Given the description of an element on the screen output the (x, y) to click on. 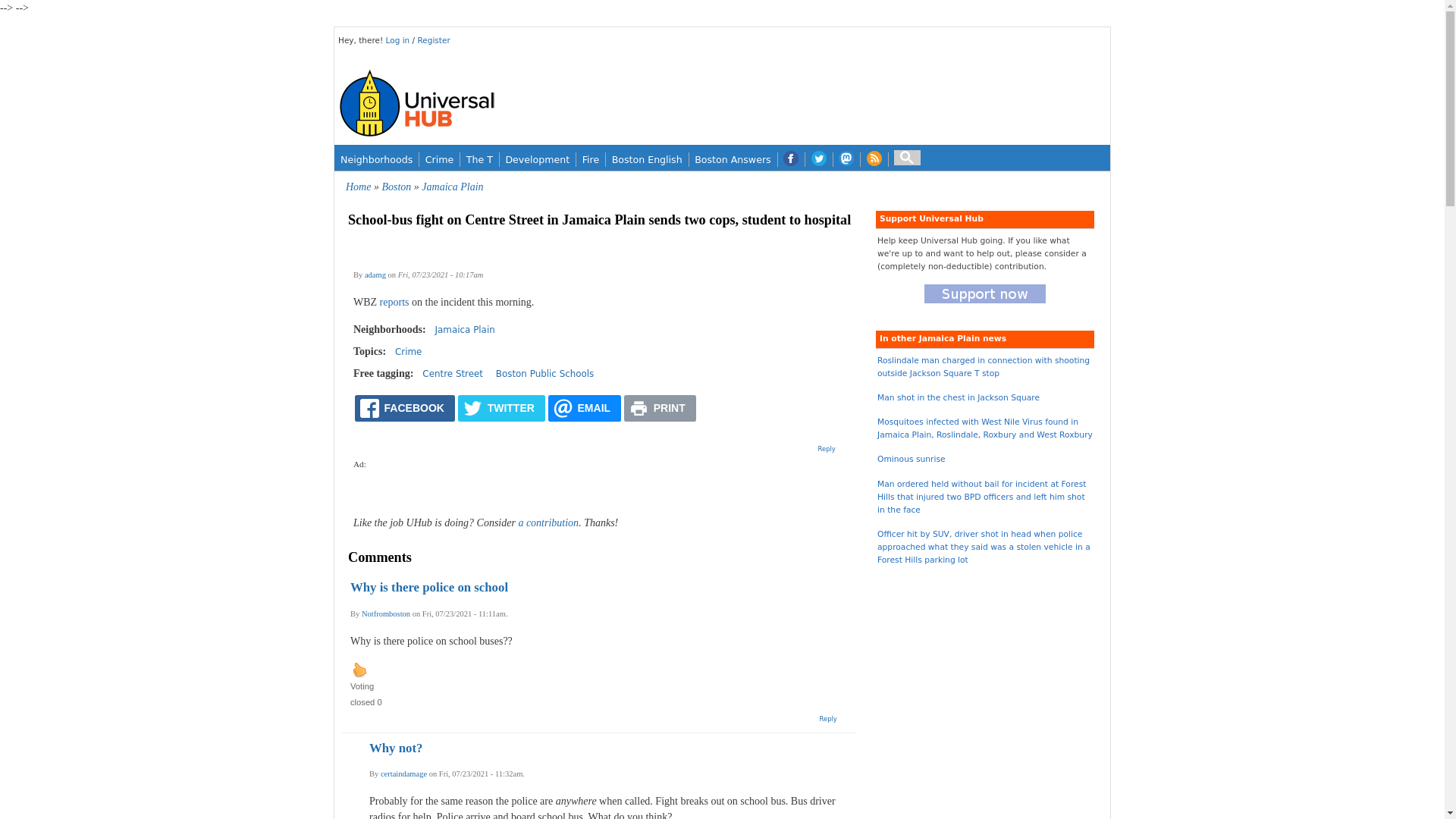
Boston Answers (732, 159)
Reply (828, 718)
Latest news on new development in Boston (537, 159)
Centre Street (452, 373)
Boston Public Schools (545, 373)
certaindamage (403, 773)
Universal Hub RSS feed (874, 159)
Neighborhoods (375, 159)
Universal Hub on Twitter (818, 159)
PRINT (659, 407)
Jamaica Plain (465, 329)
View user profile. (375, 275)
Crime (439, 159)
Jamaica Plain (452, 186)
Why not? (395, 748)
